Given the description of an element on the screen output the (x, y) to click on. 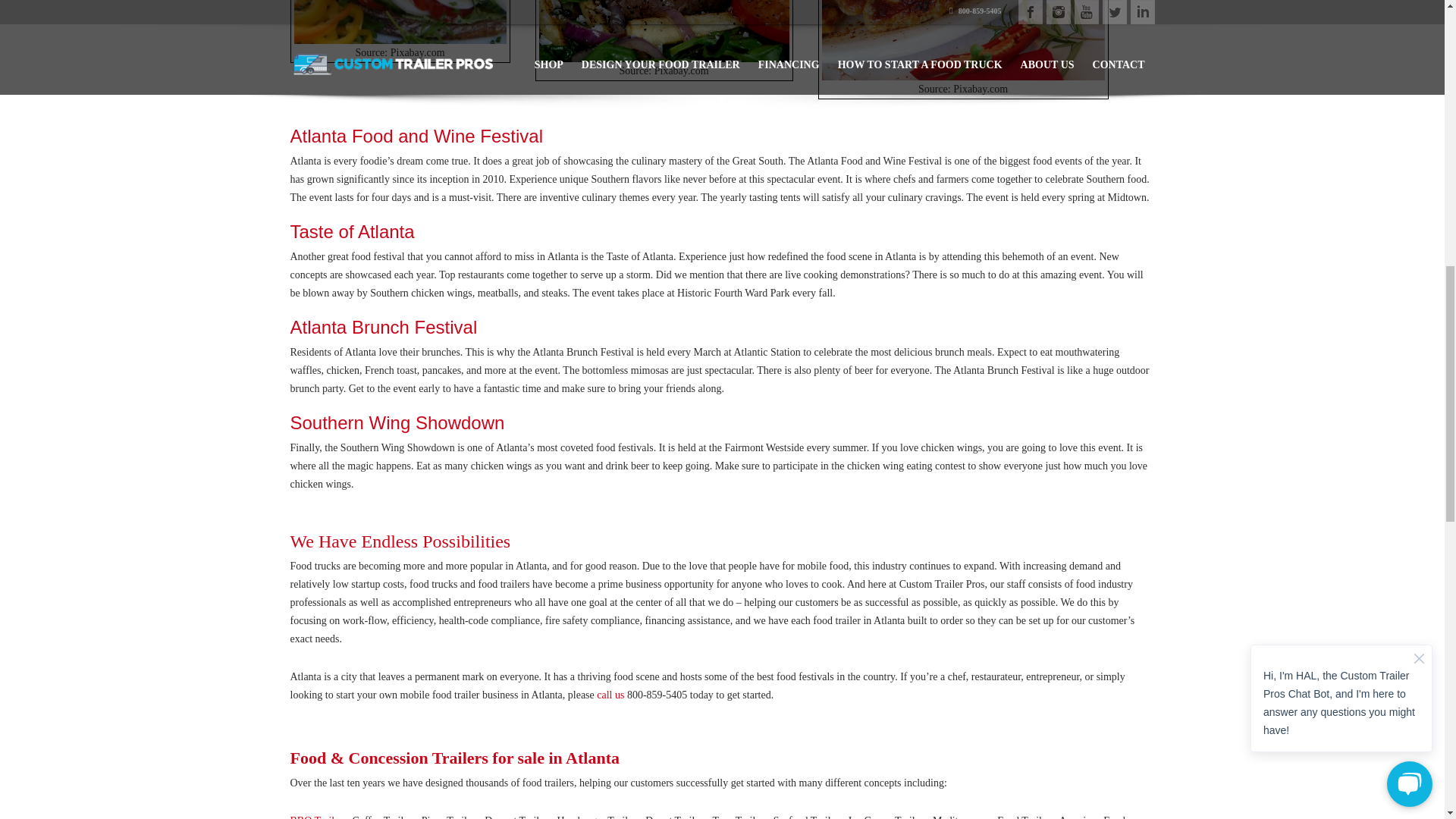
BBQ Trailers (317, 816)
call us (610, 695)
